Given the description of an element on the screen output the (x, y) to click on. 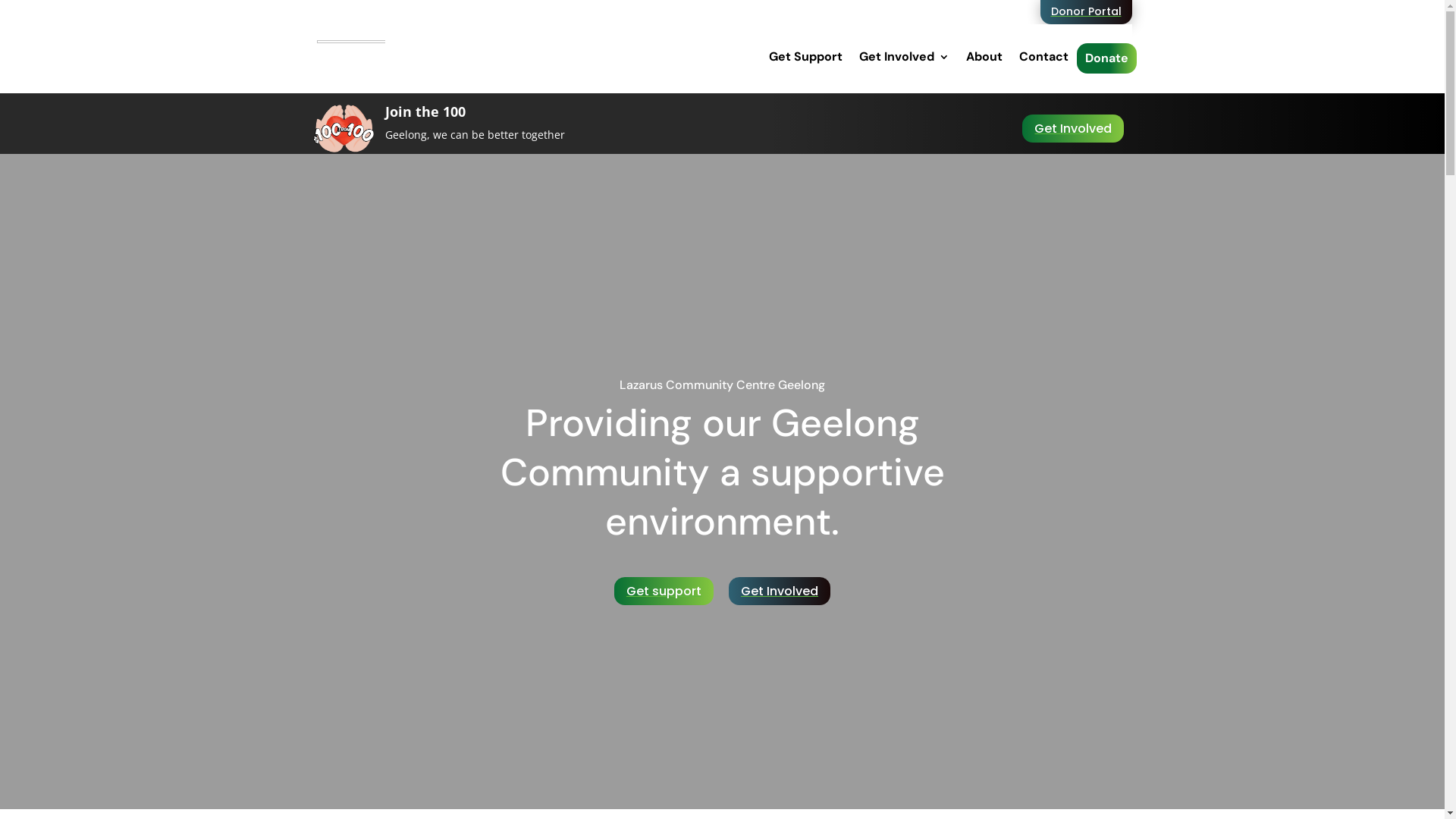
Contact Element type: text (1043, 56)
Get Involved Element type: text (1072, 128)
About Element type: text (984, 56)
Get support Element type: text (663, 591)
Get Involved Element type: text (779, 591)
Donor Portal Element type: text (1086, 12)
Get Support Element type: text (805, 56)
Get Involved Element type: text (903, 56)
Donate Element type: text (1105, 58)
